Given the description of an element on the screen output the (x, y) to click on. 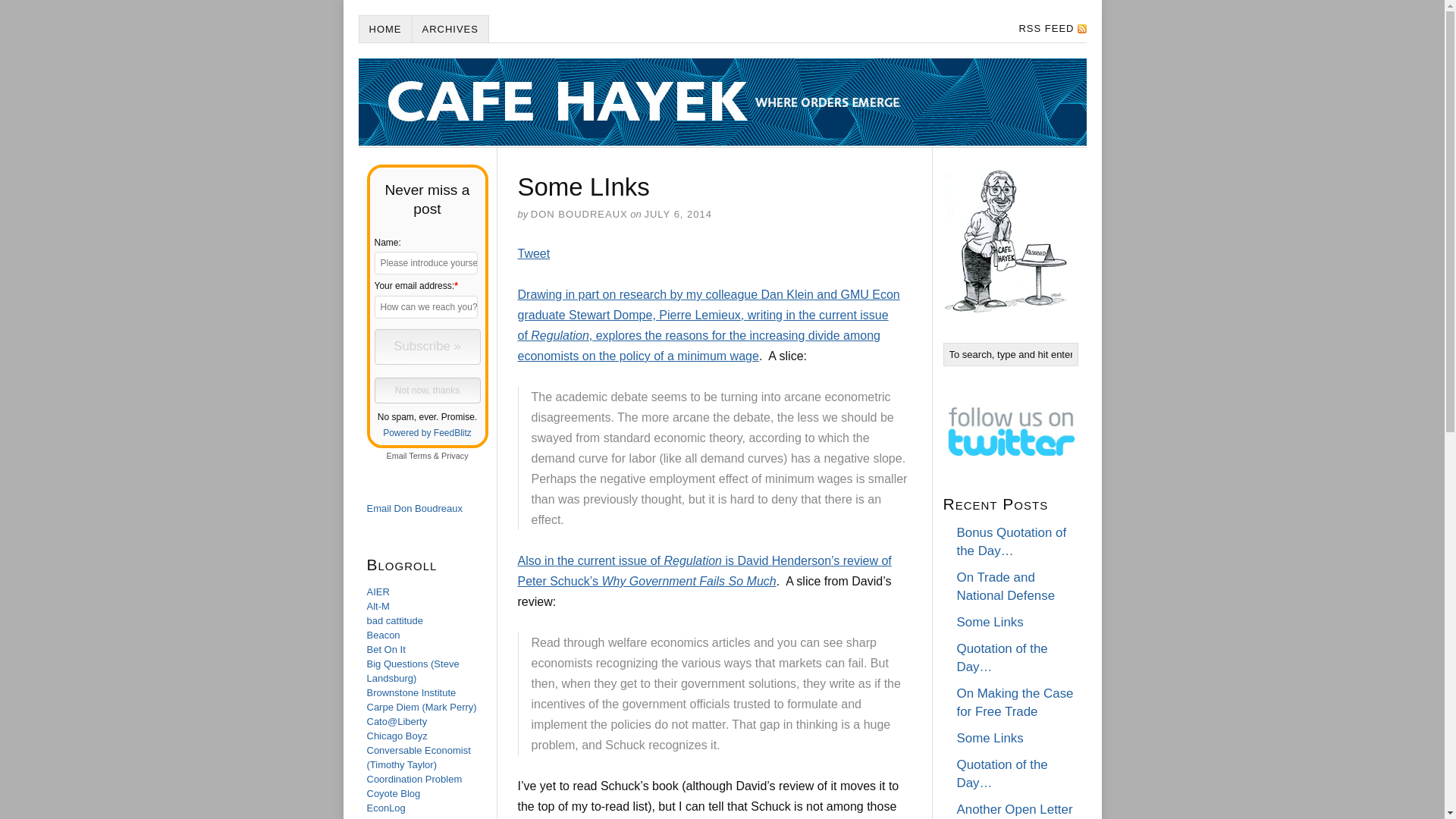
Hide this form for now (427, 390)
Privacy (454, 455)
RSS FEED (1047, 28)
ARCHIVES (450, 29)
click to join (427, 346)
Economic Forces (404, 817)
AIER (378, 591)
Powered by FeedBlitz (426, 432)
Bet On It (386, 649)
Email subscriptions privacy policy (454, 455)
Email subscriptions terms of service (419, 455)
bad cattitude (394, 620)
Alt-M (378, 605)
Not now, thanks (427, 390)
Coyote Blog (393, 793)
